Given the description of an element on the screen output the (x, y) to click on. 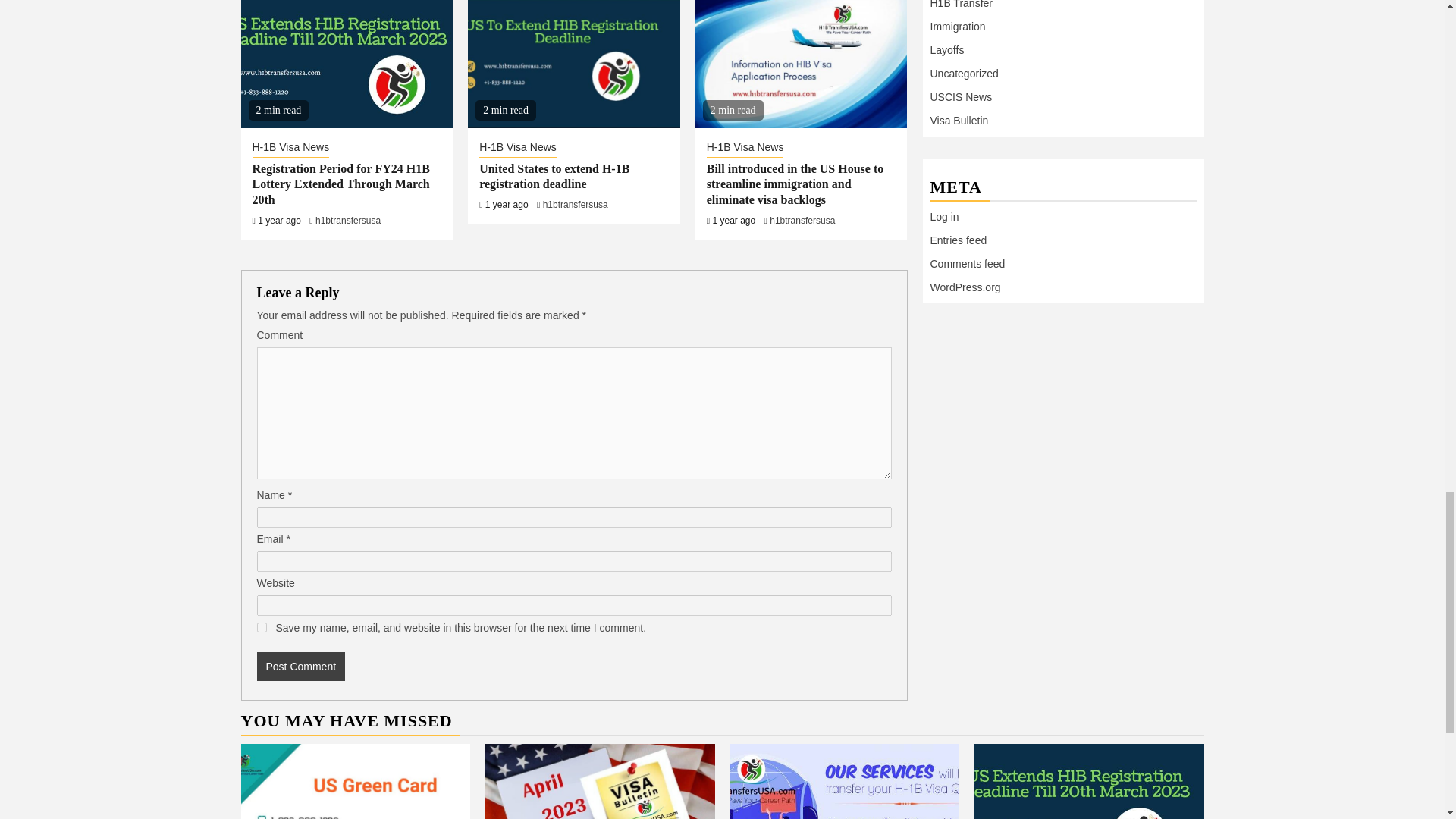
yes (261, 627)
Post Comment (300, 665)
h1btransfersusa (575, 204)
h1btransfersusa (347, 220)
h1btransfersusa (802, 220)
H-1B Visa News (290, 148)
H-1B Visa News (745, 148)
H-1B Visa News (517, 148)
United States to extend H-1B registration deadline (553, 176)
